Given the description of an element on the screen output the (x, y) to click on. 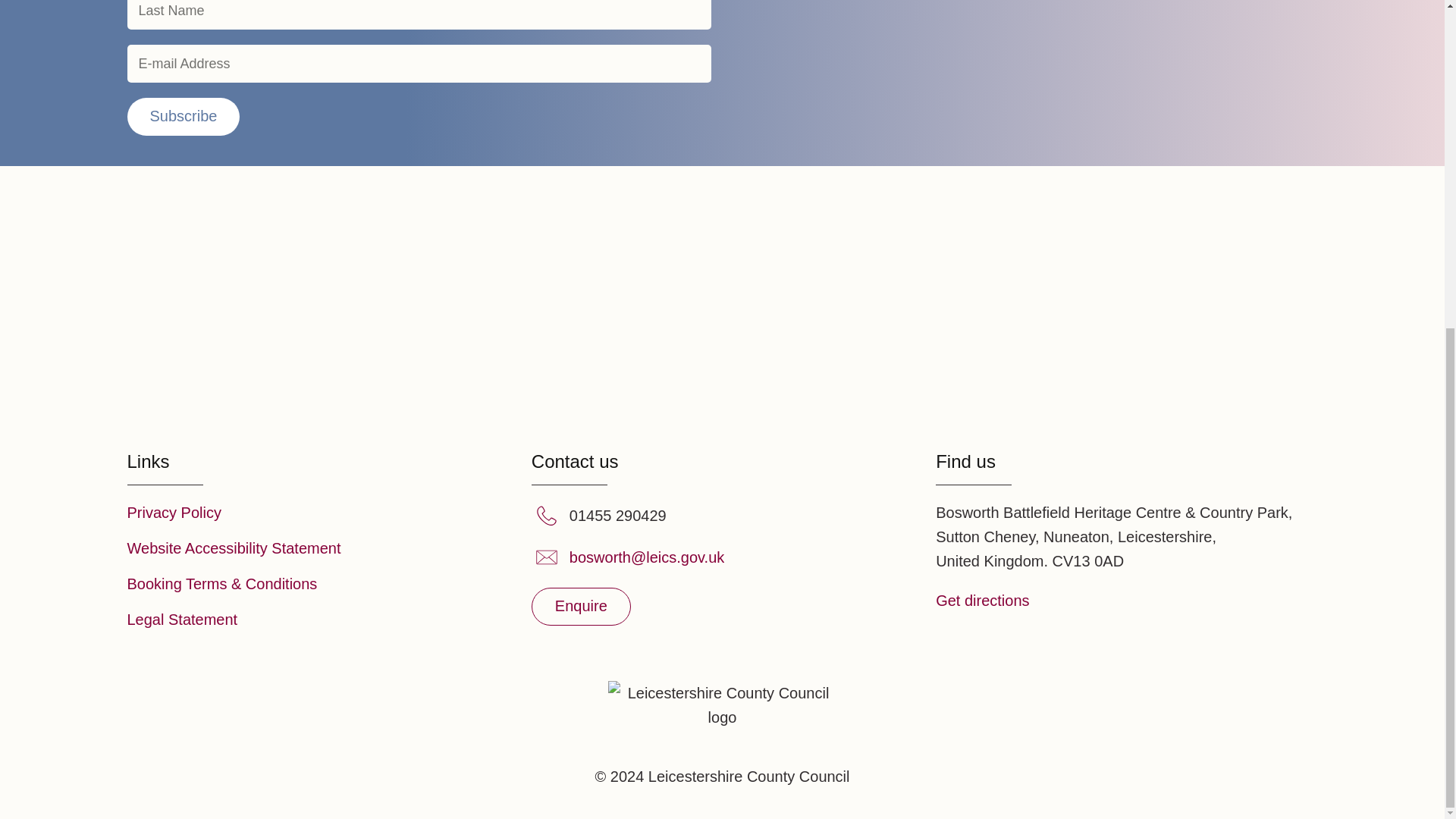
Subscribe (184, 116)
Website Accessibility Statement (234, 547)
Privacy Policy (174, 512)
Legal Statement (183, 619)
